Given the description of an element on the screen output the (x, y) to click on. 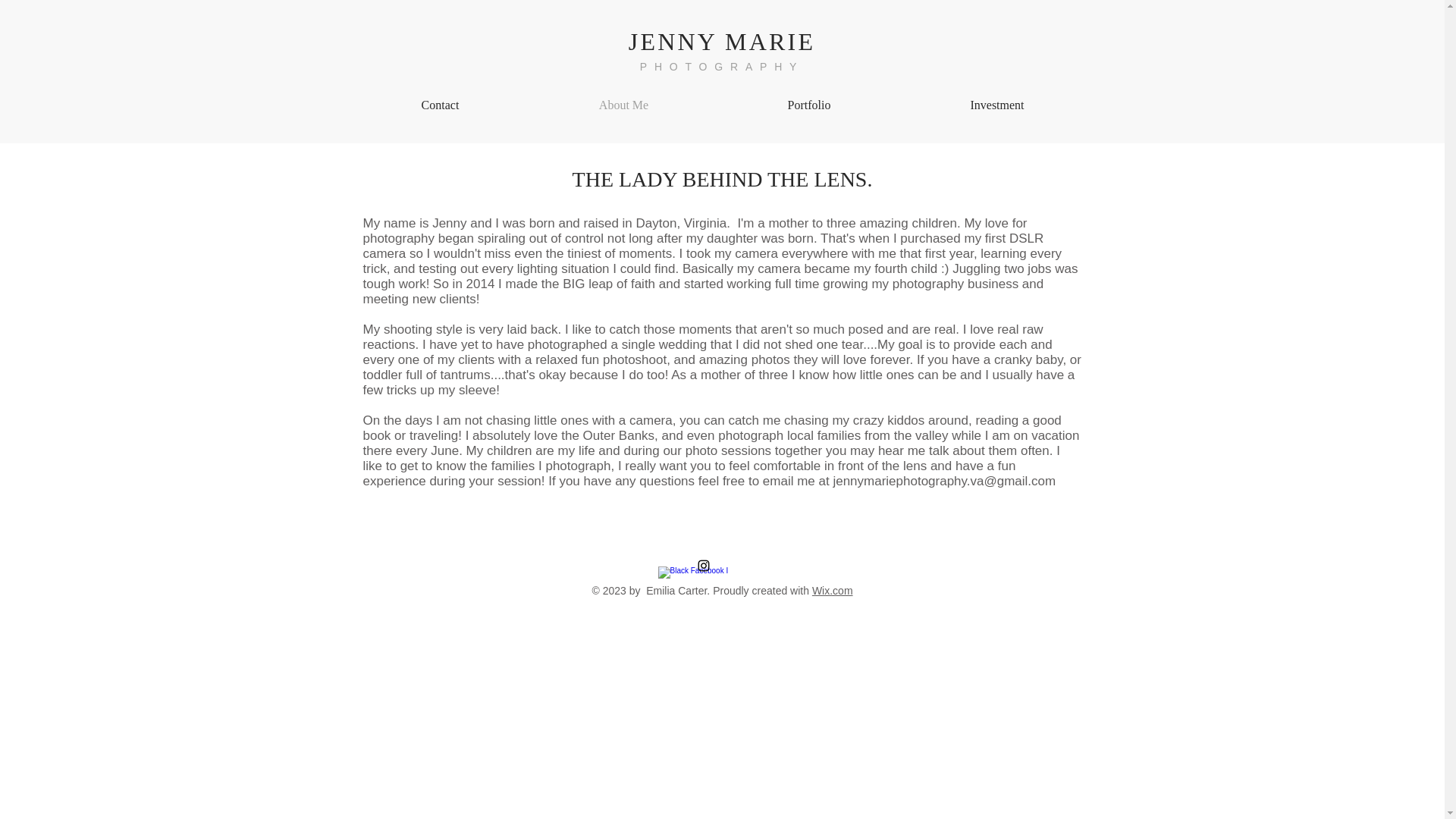
Portfolio (808, 104)
About Me (623, 104)
PHOTOGRAPHY (721, 66)
Wix.com (832, 590)
Contact (439, 104)
Investment (997, 104)
